Given the description of an element on the screen output the (x, y) to click on. 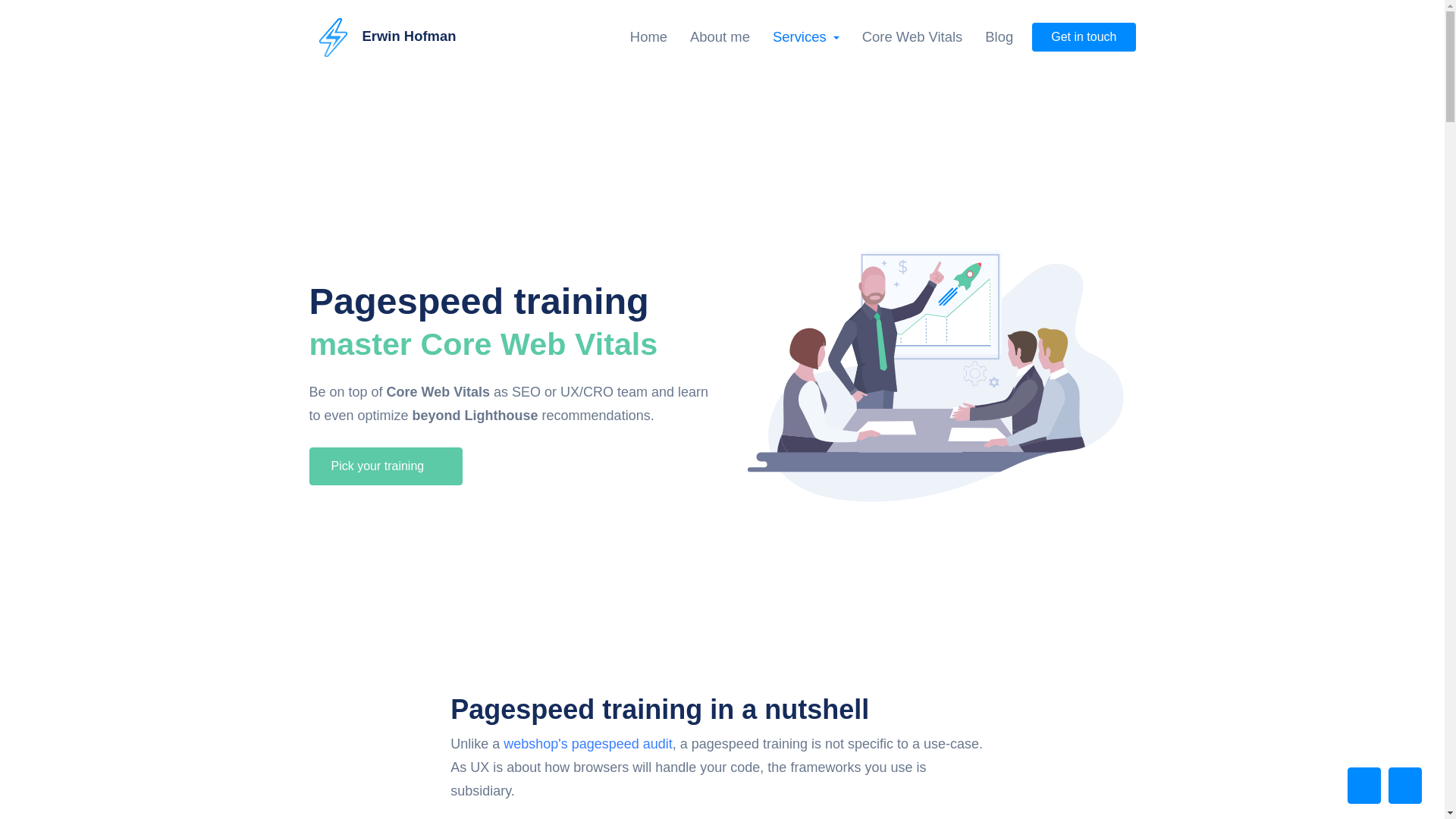
to content (11, 6)
Blog (998, 36)
Get in touch (1083, 36)
Core Web Vitals (912, 36)
Home (650, 36)
Services (805, 36)
Pick your training (385, 466)
Erwin Hofman (382, 36)
About me (719, 36)
webshop's pagespeed audit (587, 743)
